Given the description of an element on the screen output the (x, y) to click on. 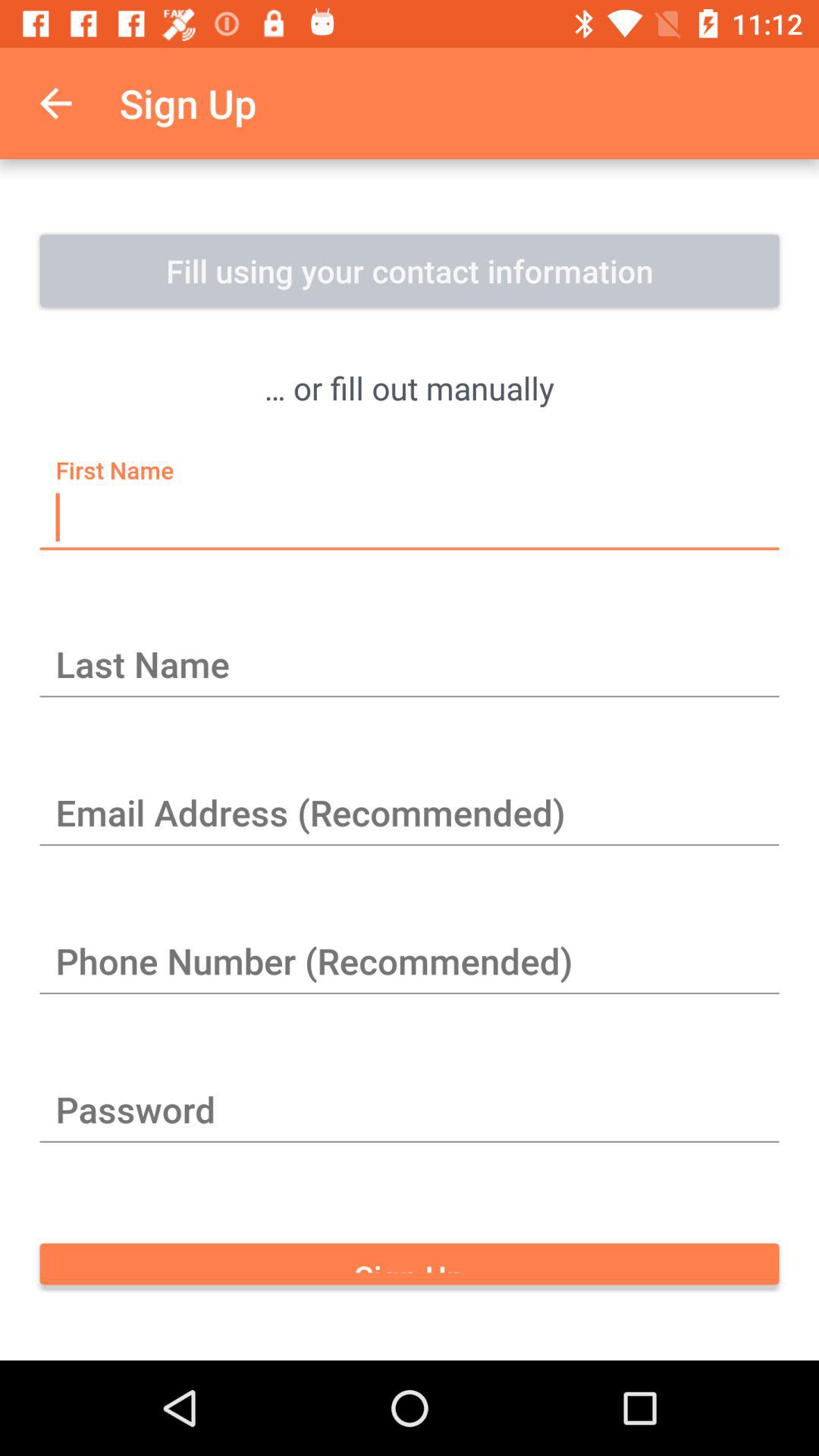
choose item above or fill out (409, 270)
